Given the description of an element on the screen output the (x, y) to click on. 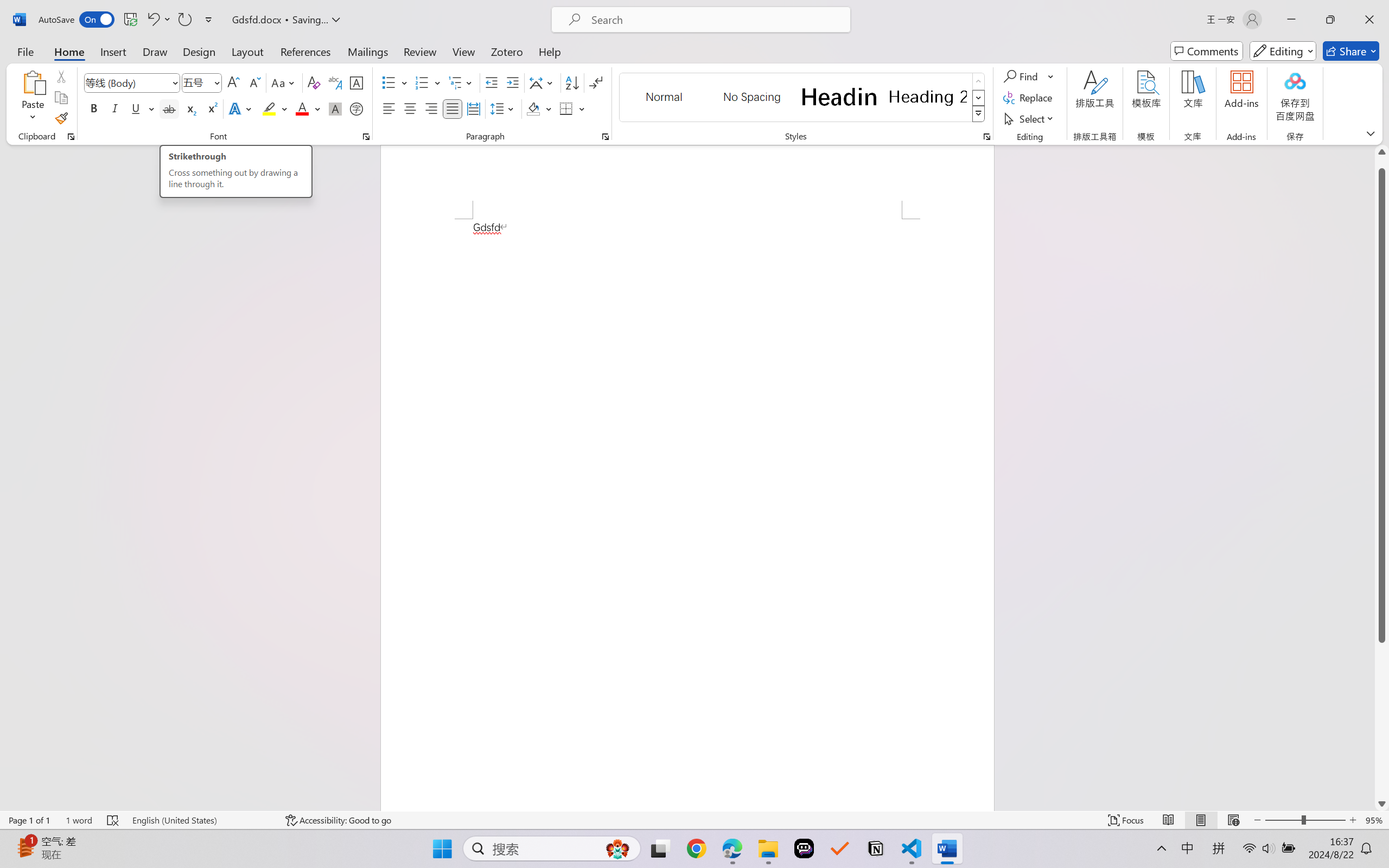
Row up (978, 81)
Shading (539, 108)
Increase Indent (512, 82)
Class: MsoCommandBar (694, 819)
AutomationID: QuickStylesGallery (802, 97)
Sort... (571, 82)
